Given the description of an element on the screen output the (x, y) to click on. 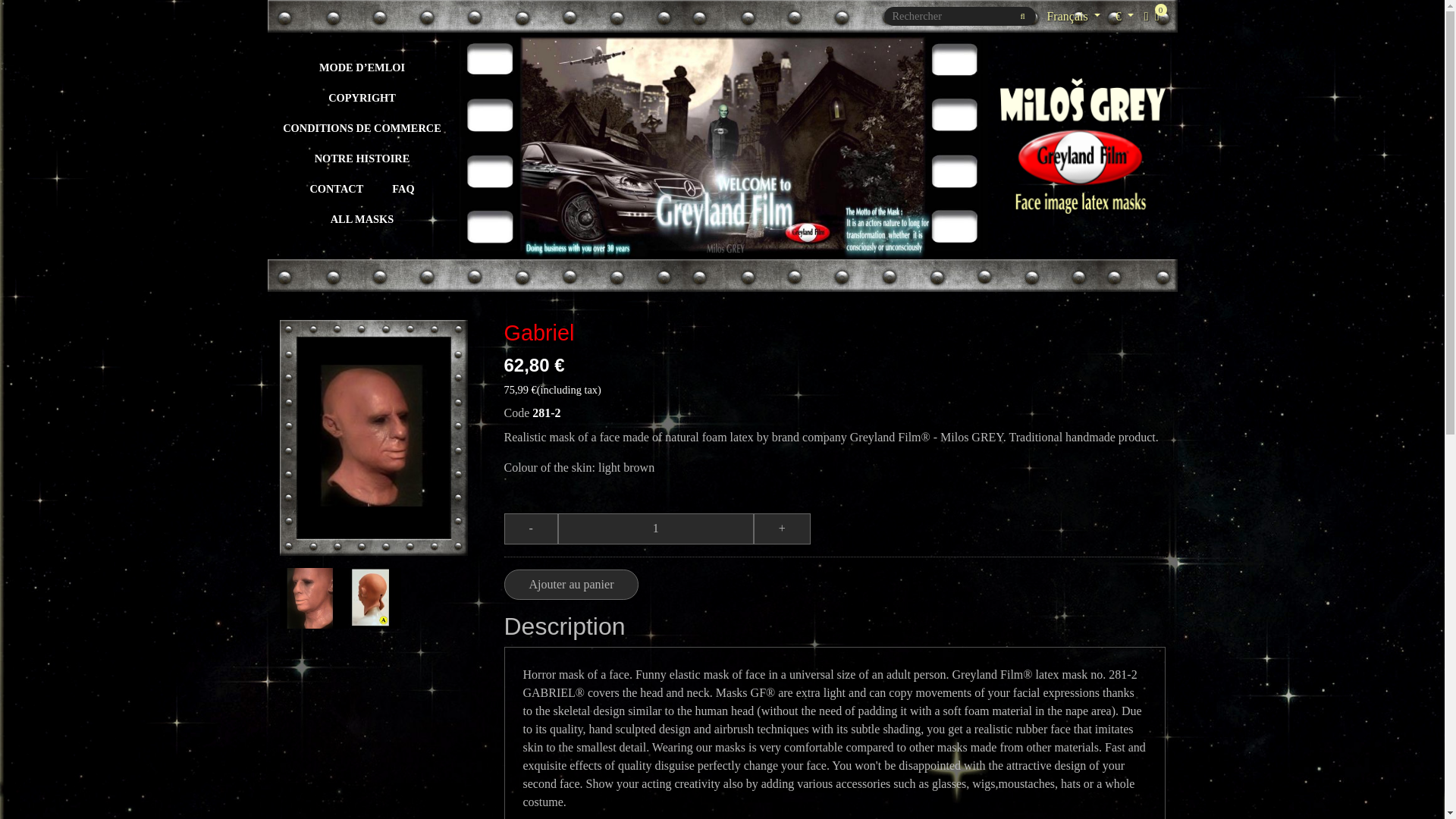
COPYRIGHT (362, 96)
CONTACT (336, 187)
CONDITIONS DE COMMERCE (361, 127)
FAQ (402, 187)
Rechercher (1021, 15)
Ajouter au panier (571, 584)
ALL MASKS (362, 218)
1 (655, 528)
NOTRE HISTOIRE (362, 157)
- (530, 528)
